Given the description of an element on the screen output the (x, y) to click on. 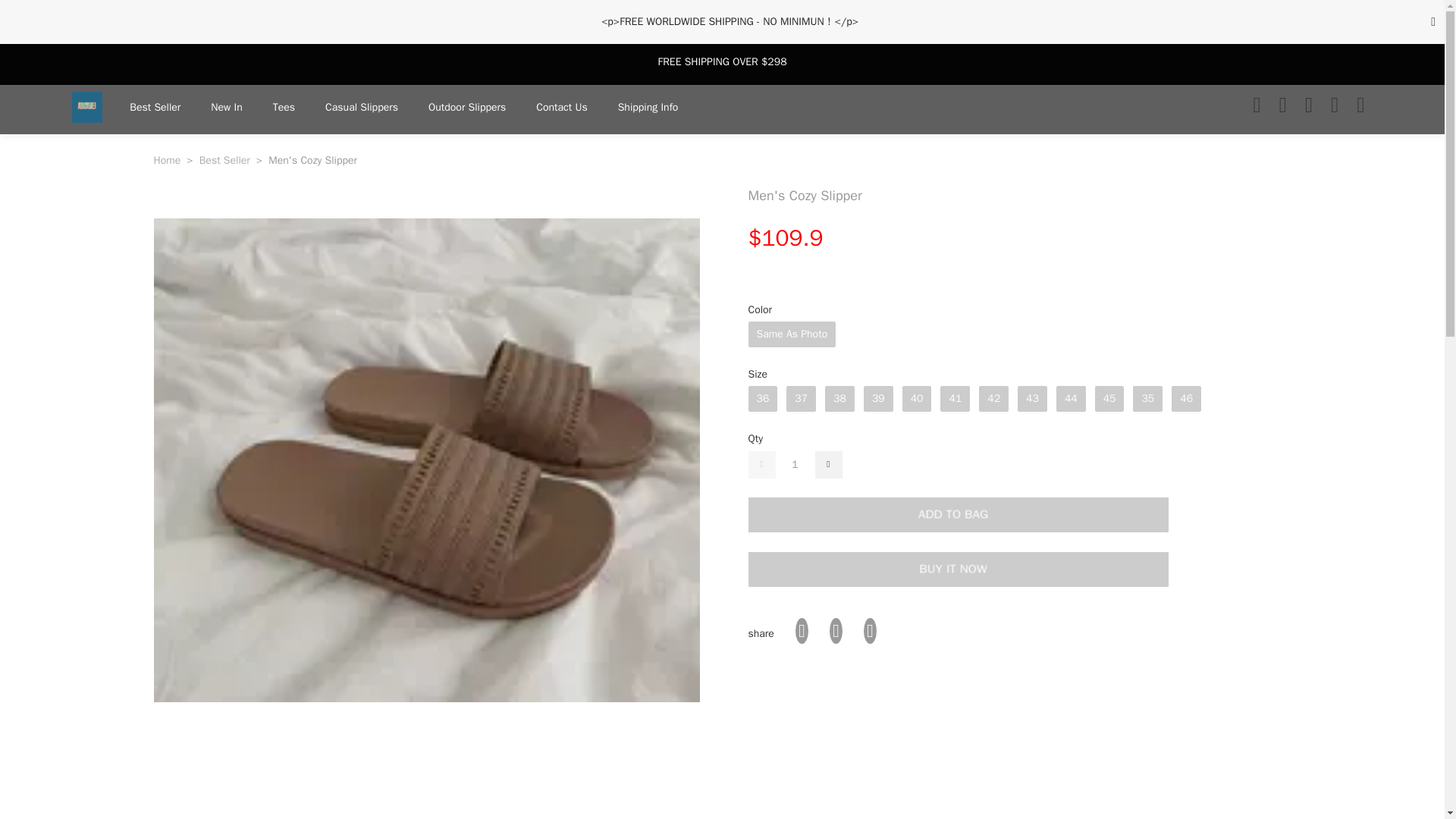
New In (226, 107)
Outdoor Slippers (466, 107)
Home (166, 160)
Shipping Info (647, 107)
